Given the description of an element on the screen output the (x, y) to click on. 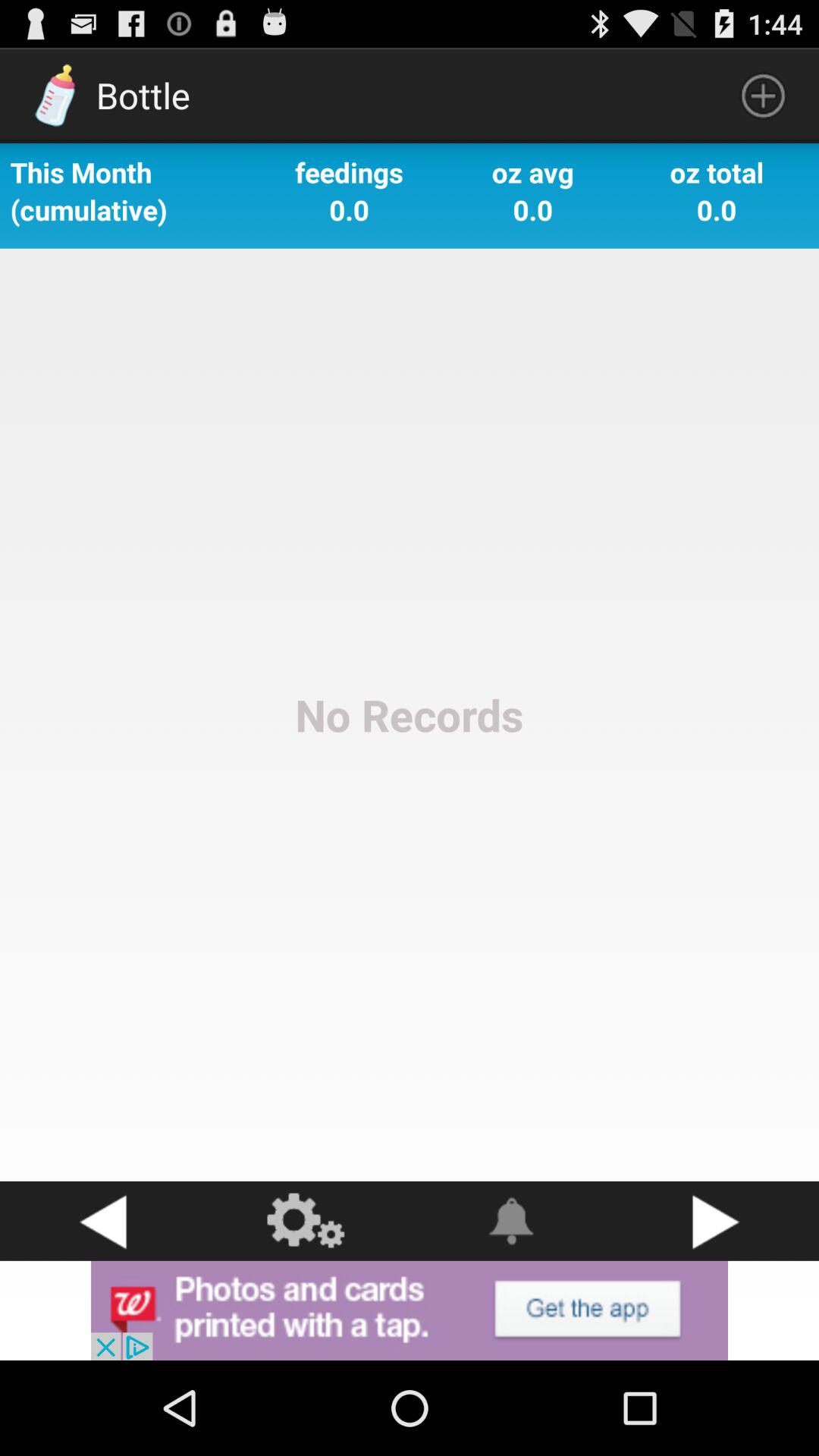
settings (306, 1220)
